Given the description of an element on the screen output the (x, y) to click on. 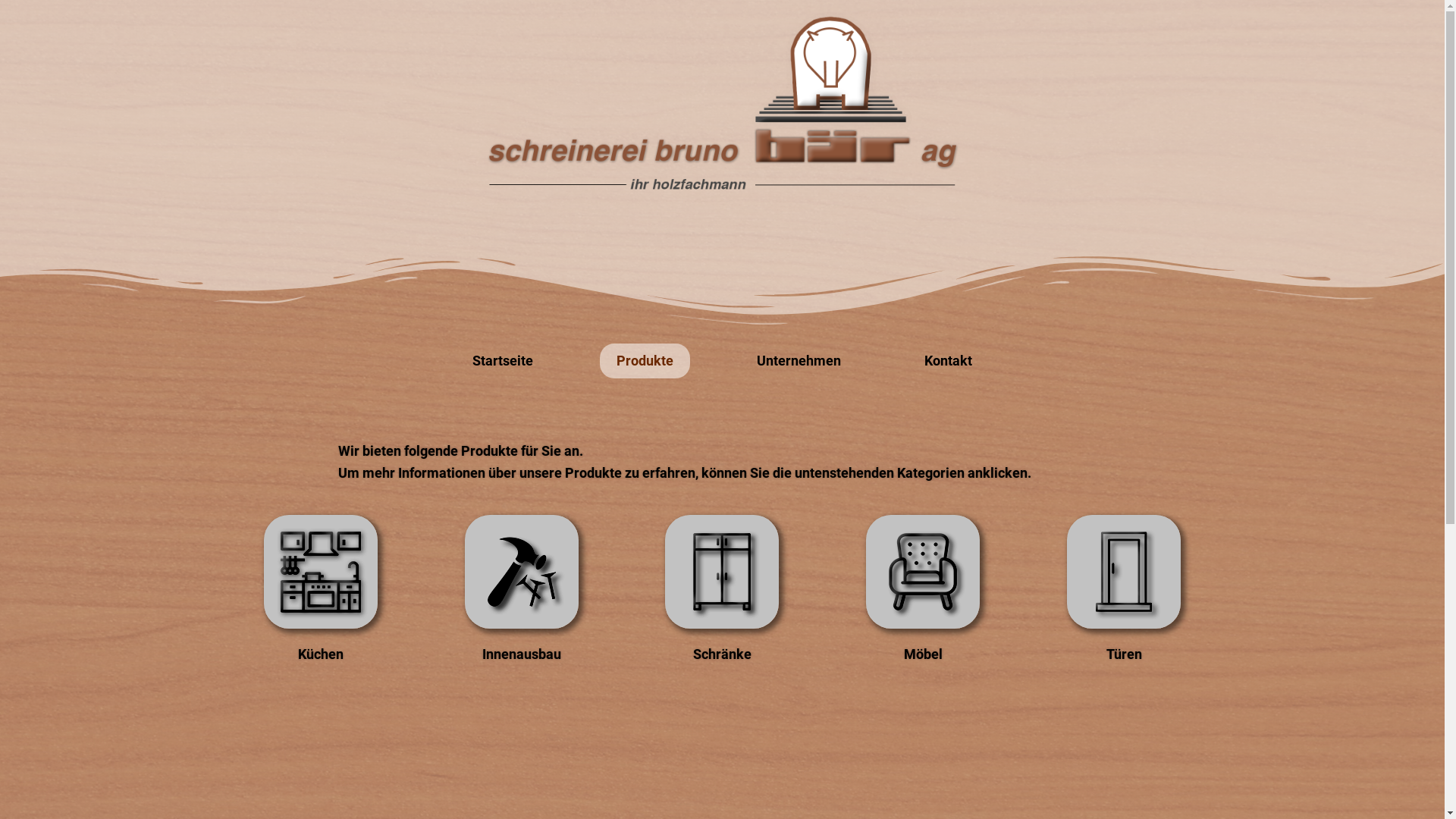
Produkte Element type: text (644, 360)
Startseite Element type: text (502, 360)
Kontakt Element type: text (947, 360)
Unternehmen Element type: text (798, 360)
